Given the description of an element on the screen output the (x, y) to click on. 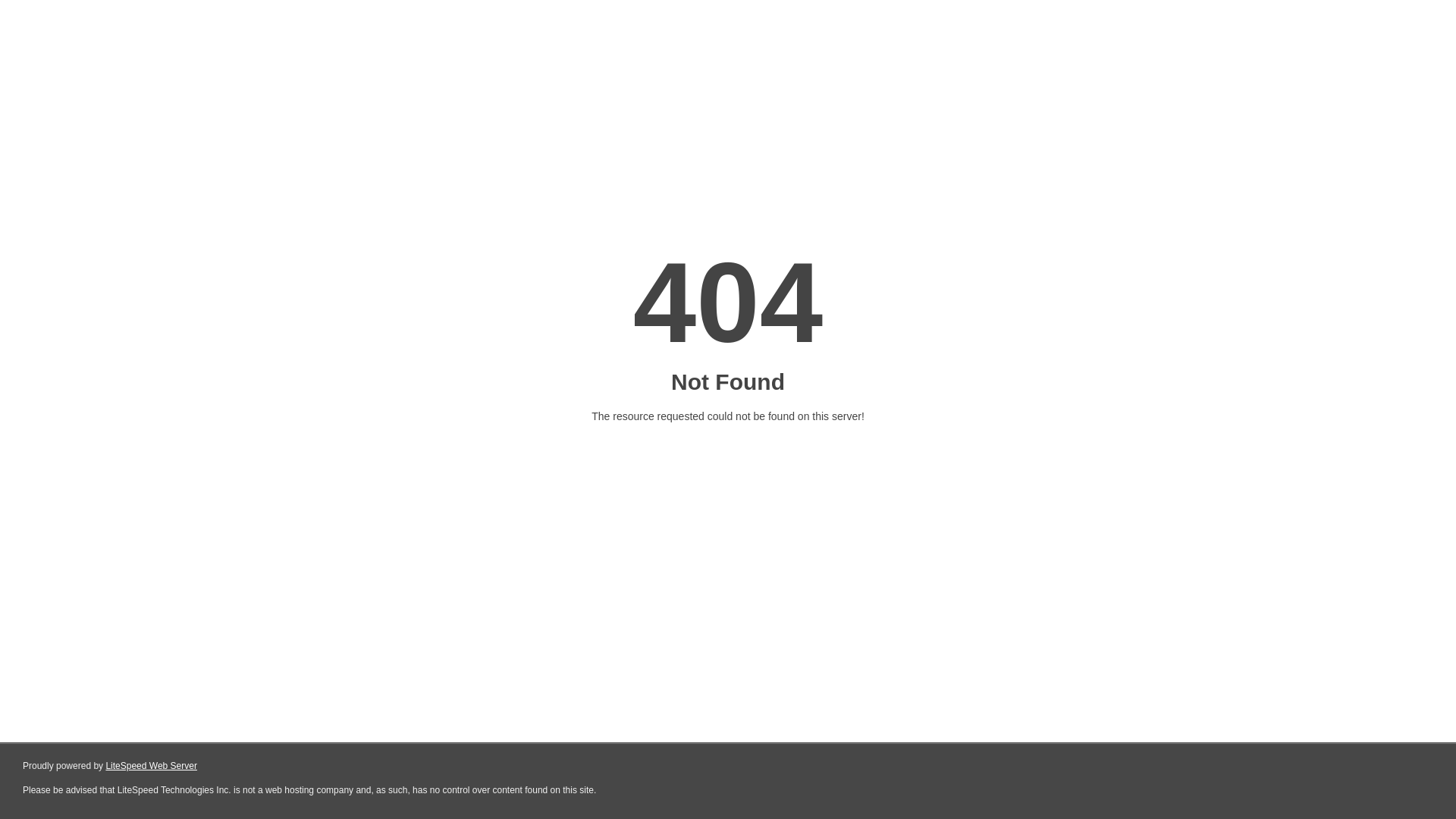
LiteSpeed Web Server Element type: text (151, 765)
